Given the description of an element on the screen output the (x, y) to click on. 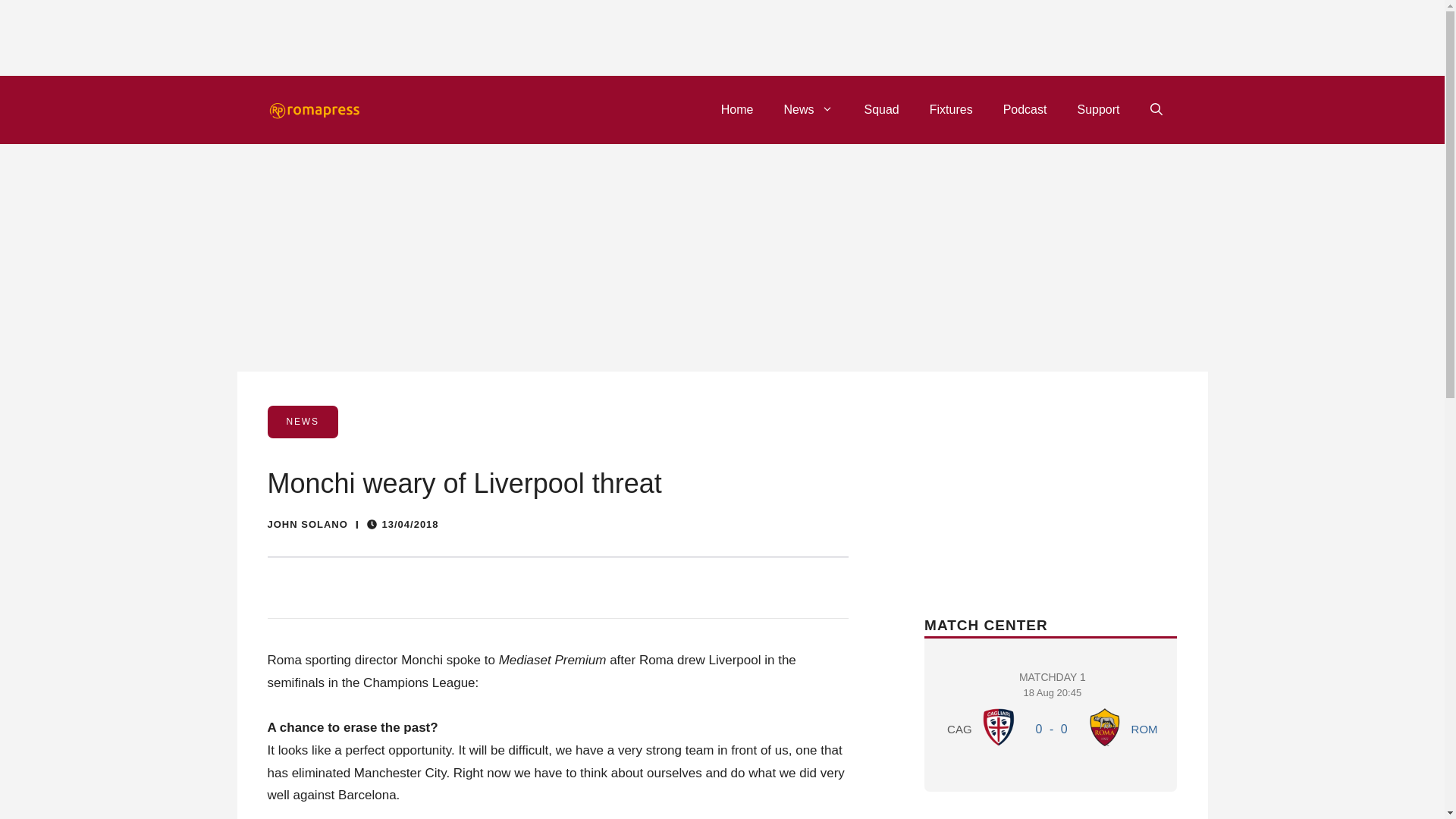
Cagliari (998, 727)
Fixtures (951, 109)
Squad (881, 109)
Home (737, 109)
Podcast (1025, 109)
0 - 0 (1051, 728)
ROM (1144, 728)
News (808, 109)
Support (1097, 109)
